Given the description of an element on the screen output the (x, y) to click on. 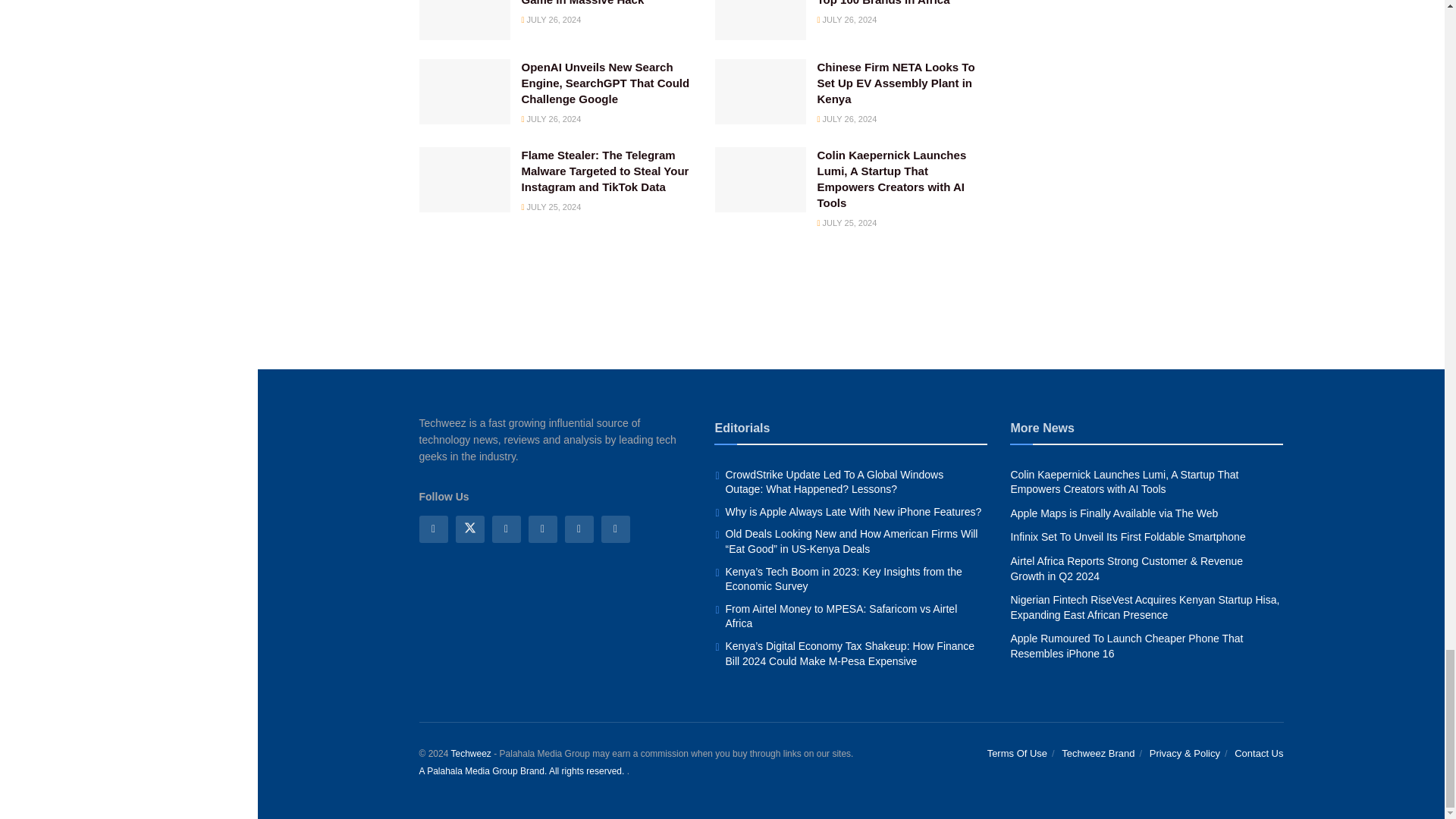
Techweez, a Palahala Media Group Brand. All rights reserved (469, 753)
